Given the description of an element on the screen output the (x, y) to click on. 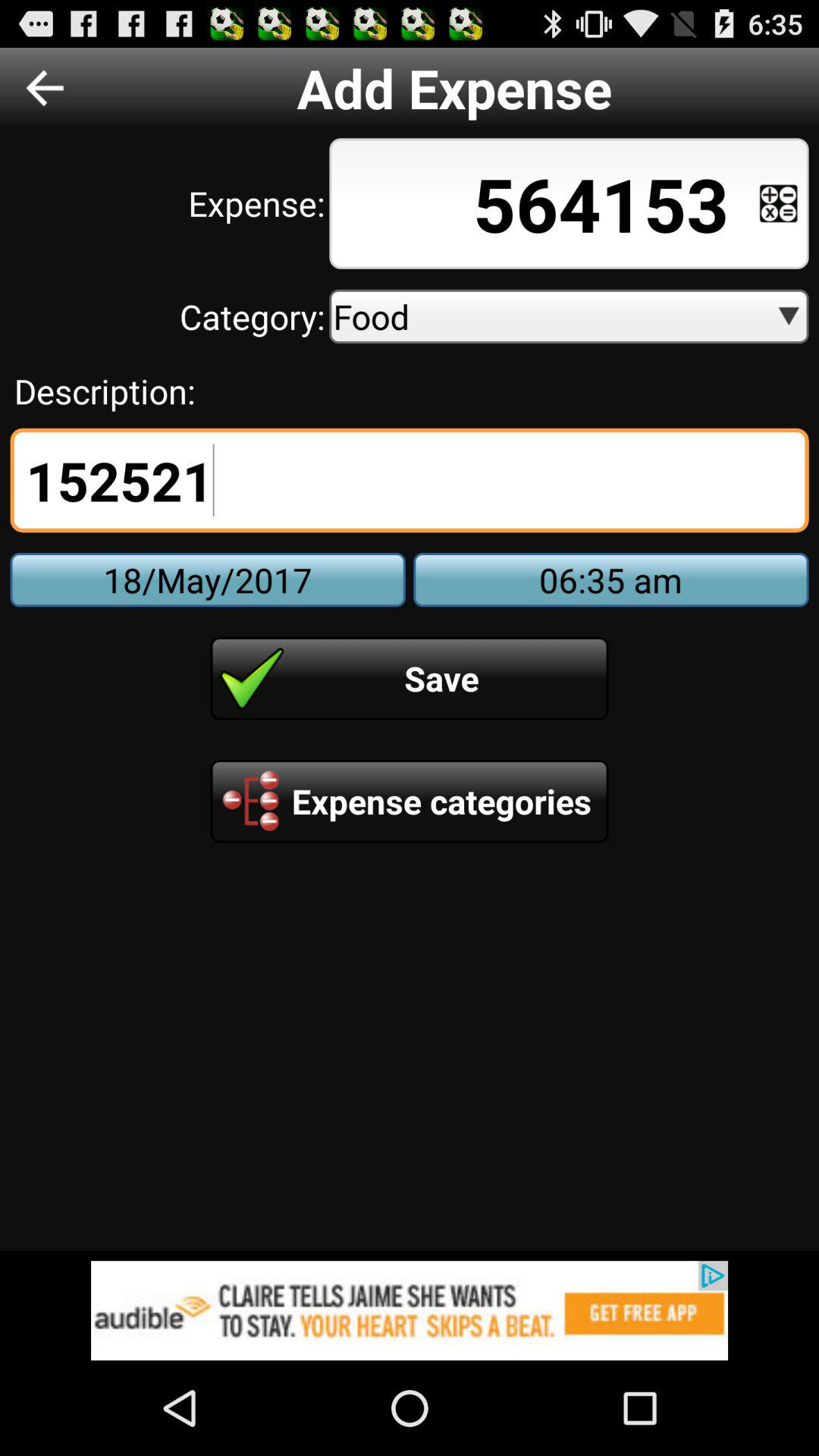
go to menu (778, 203)
